Given the description of an element on the screen output the (x, y) to click on. 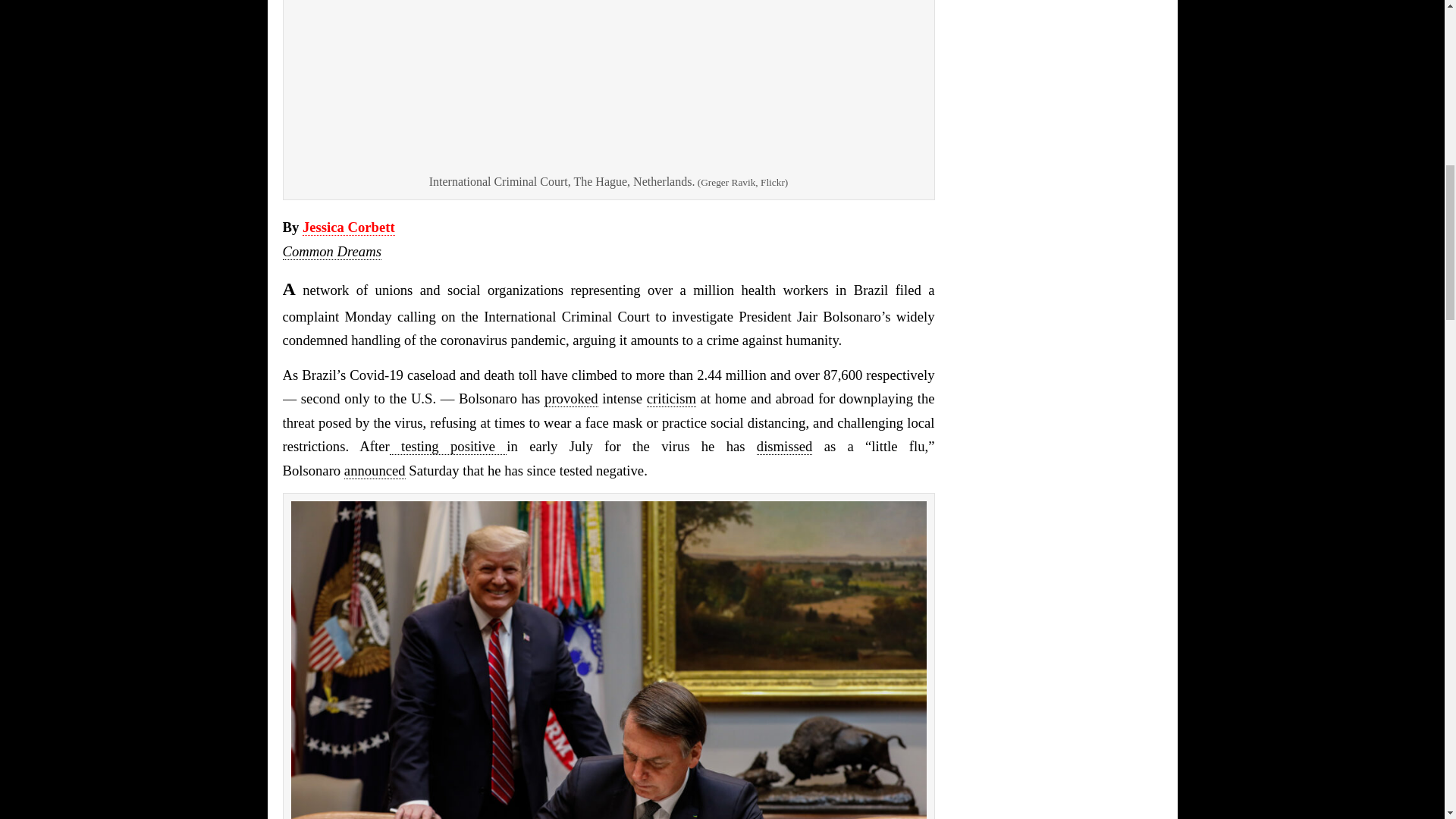
dismissed (784, 446)
provoked (570, 398)
Common Dreams (331, 251)
announced (374, 470)
Jessica Corbett (348, 227)
 testing positive  (448, 446)
criticism (670, 398)
